Given the description of an element on the screen output the (x, y) to click on. 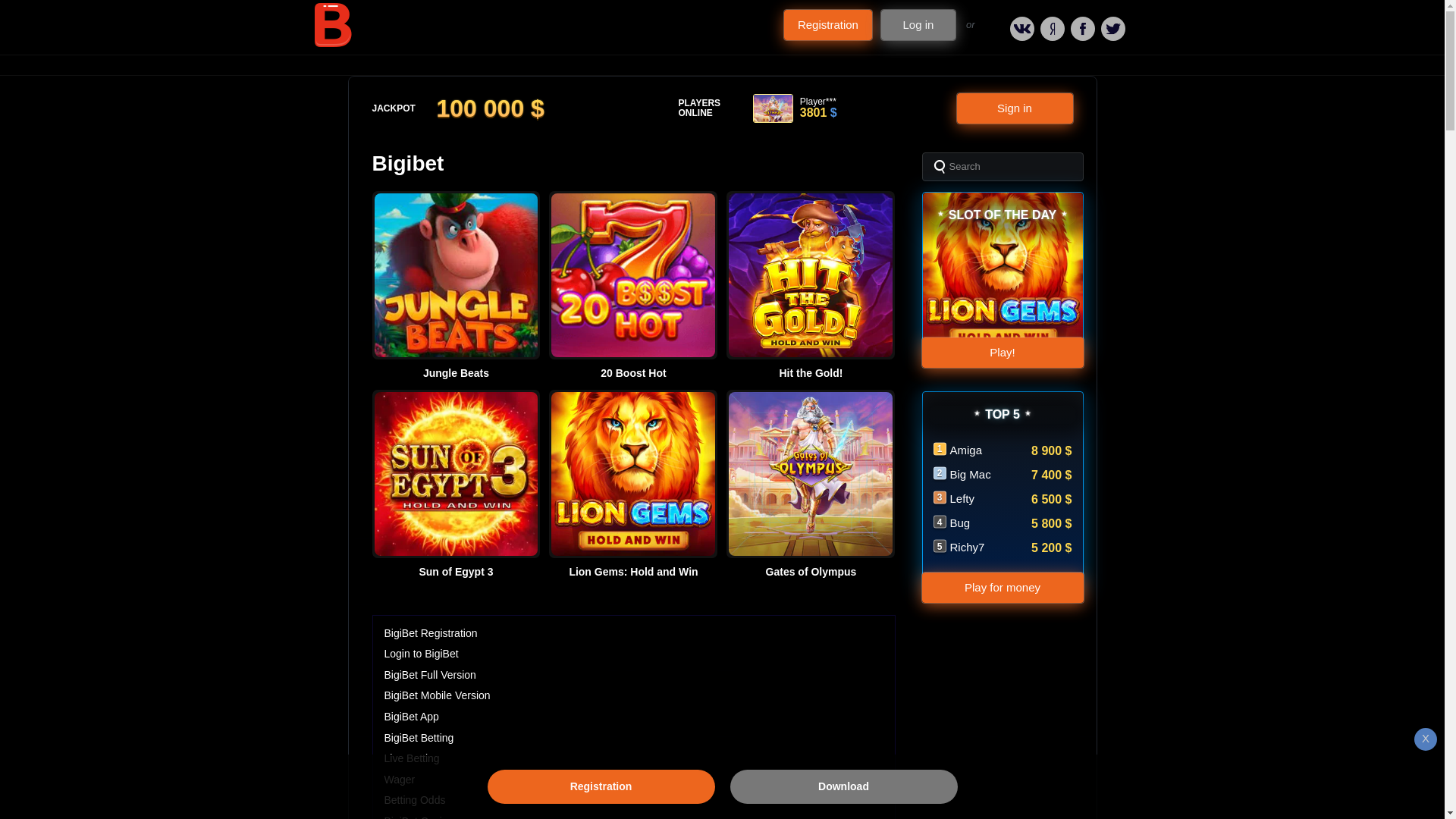
BigiBet Betting (418, 737)
1 (731, 59)
Log in (918, 24)
Login to BigiBet (421, 653)
20 Boost Hot (632, 373)
Lion Gems: Hold and Win (632, 572)
BigiBet App (411, 716)
Live Betting (411, 758)
casino (331, 24)
Betting Odds (414, 799)
BigiBet Casino (418, 816)
Jungle Beats (455, 373)
BigiBet Full Version (430, 674)
Wager (399, 779)
Gates of Olympus (810, 572)
